Given the description of an element on the screen output the (x, y) to click on. 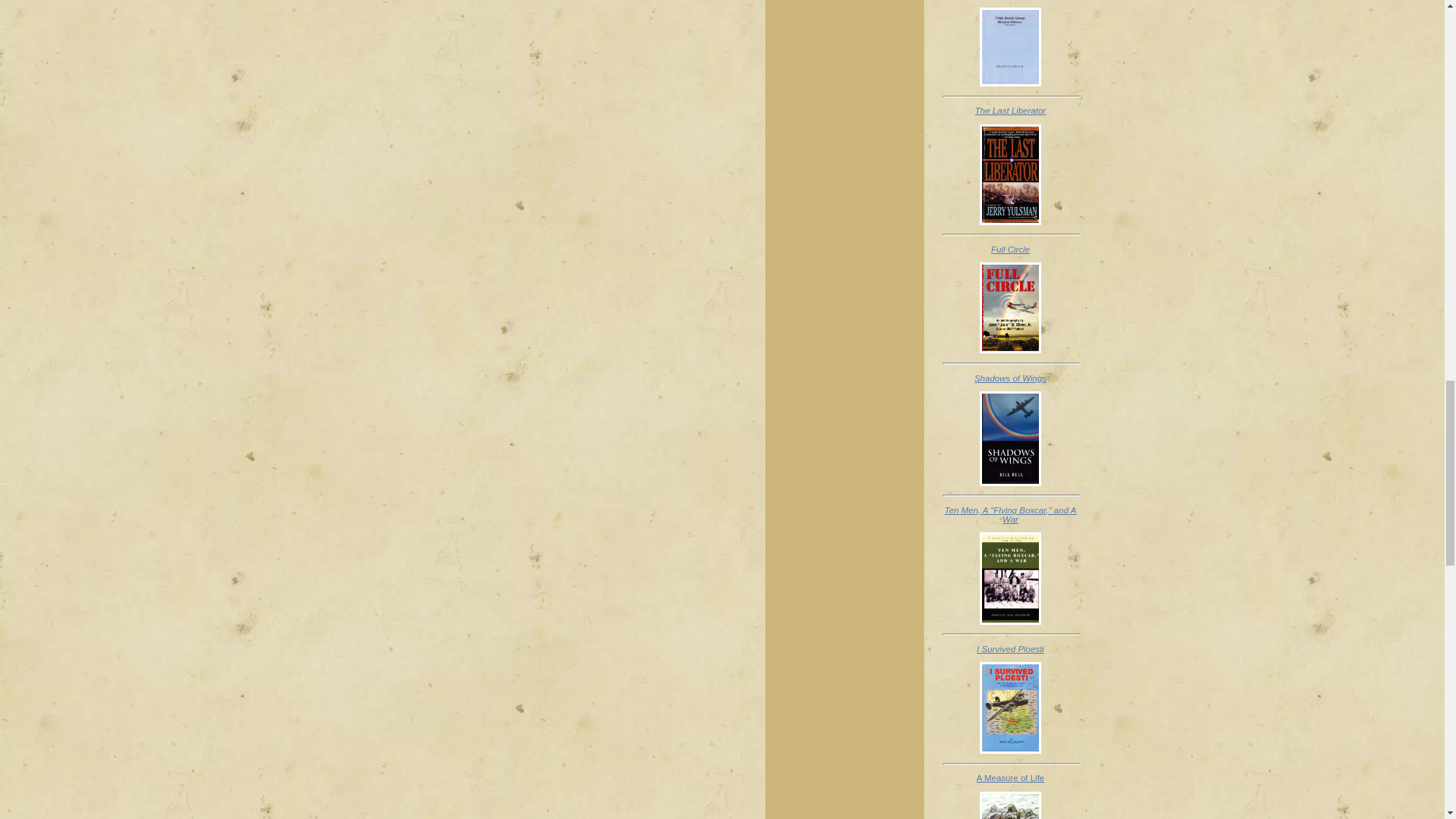
Go to Jack Oliver - Full Circle (1010, 349)
Go to Clendenin - 376th Bomb Group Mission History (1010, 82)
Go to Bill Bell - Shadows of Wings (1010, 482)
Go to Emmett MacKenzie - Ten Men, A  (1010, 621)
Go to Yulsman - The Last Liberator (1010, 221)
Go to Ralph Ray Guilinger - I Survived Ploesti (1010, 750)
